Given the description of an element on the screen output the (x, y) to click on. 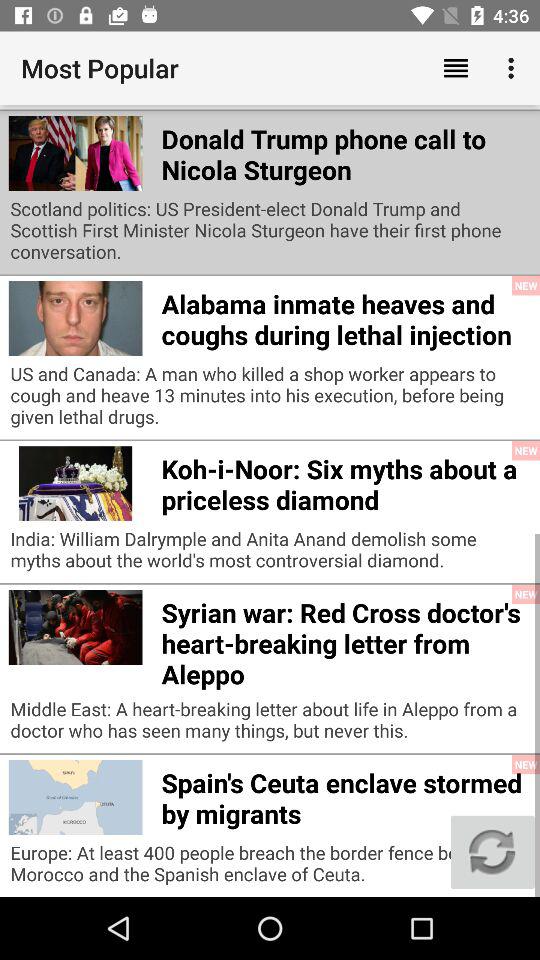
choose the app below the scotland politics us item (345, 316)
